Given the description of an element on the screen output the (x, y) to click on. 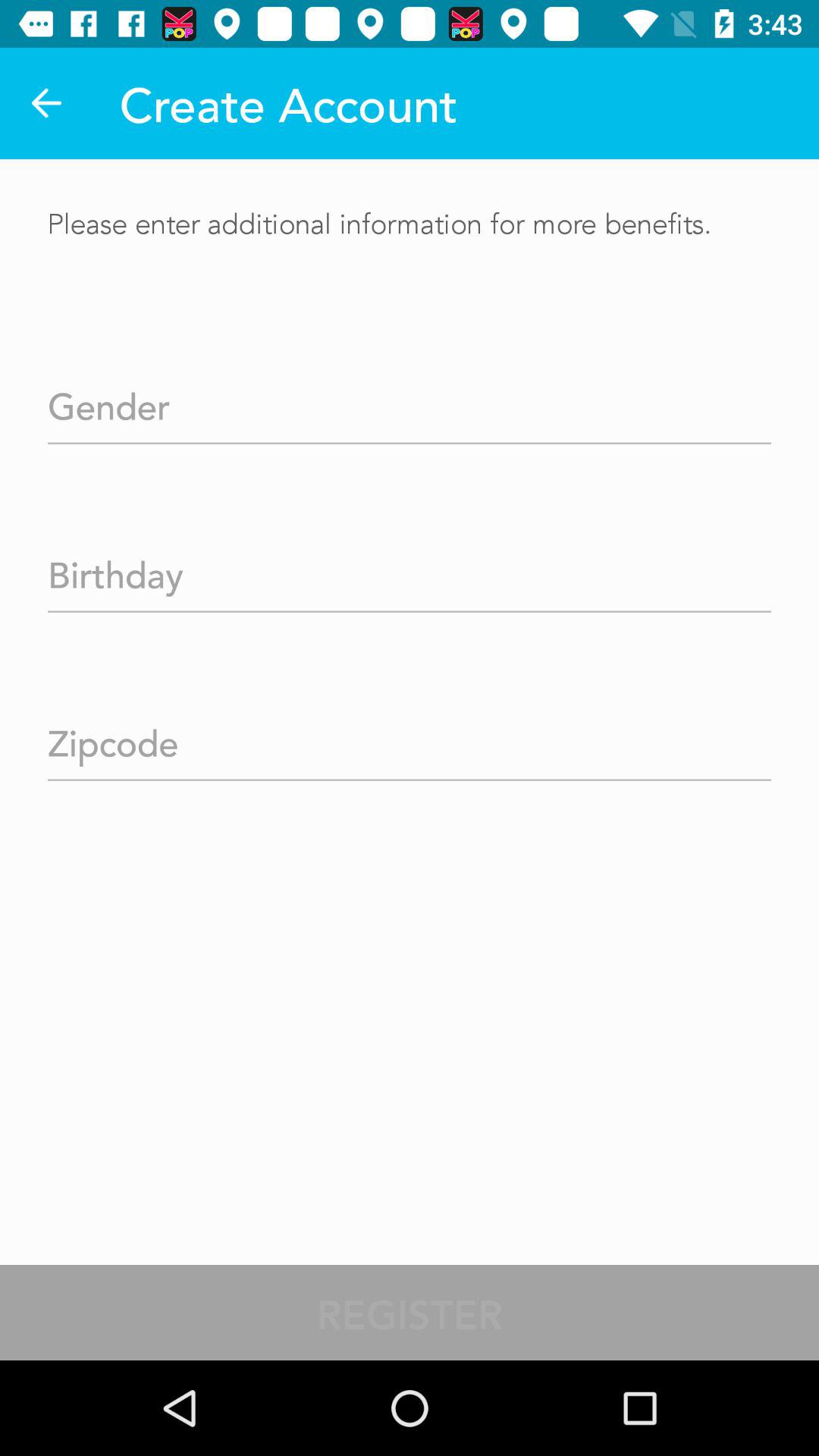
enter your gender (409, 401)
